Given the description of an element on the screen output the (x, y) to click on. 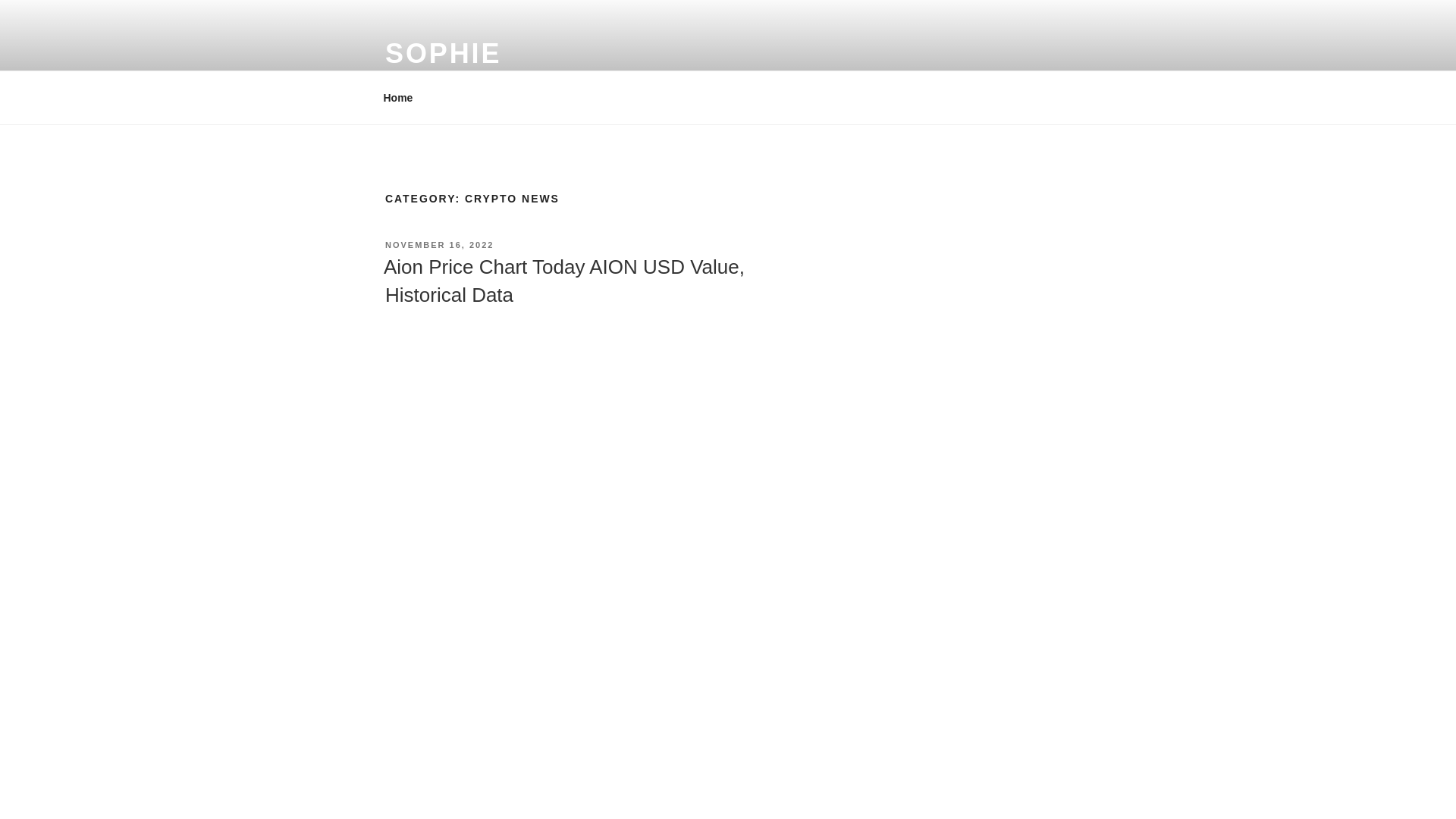
NOVEMBER 16, 2022 (439, 244)
Home (397, 97)
SOPHIE (442, 52)
Aion Price Chart Today AION USD Value, Historical Data (564, 280)
